Given the description of an element on the screen output the (x, y) to click on. 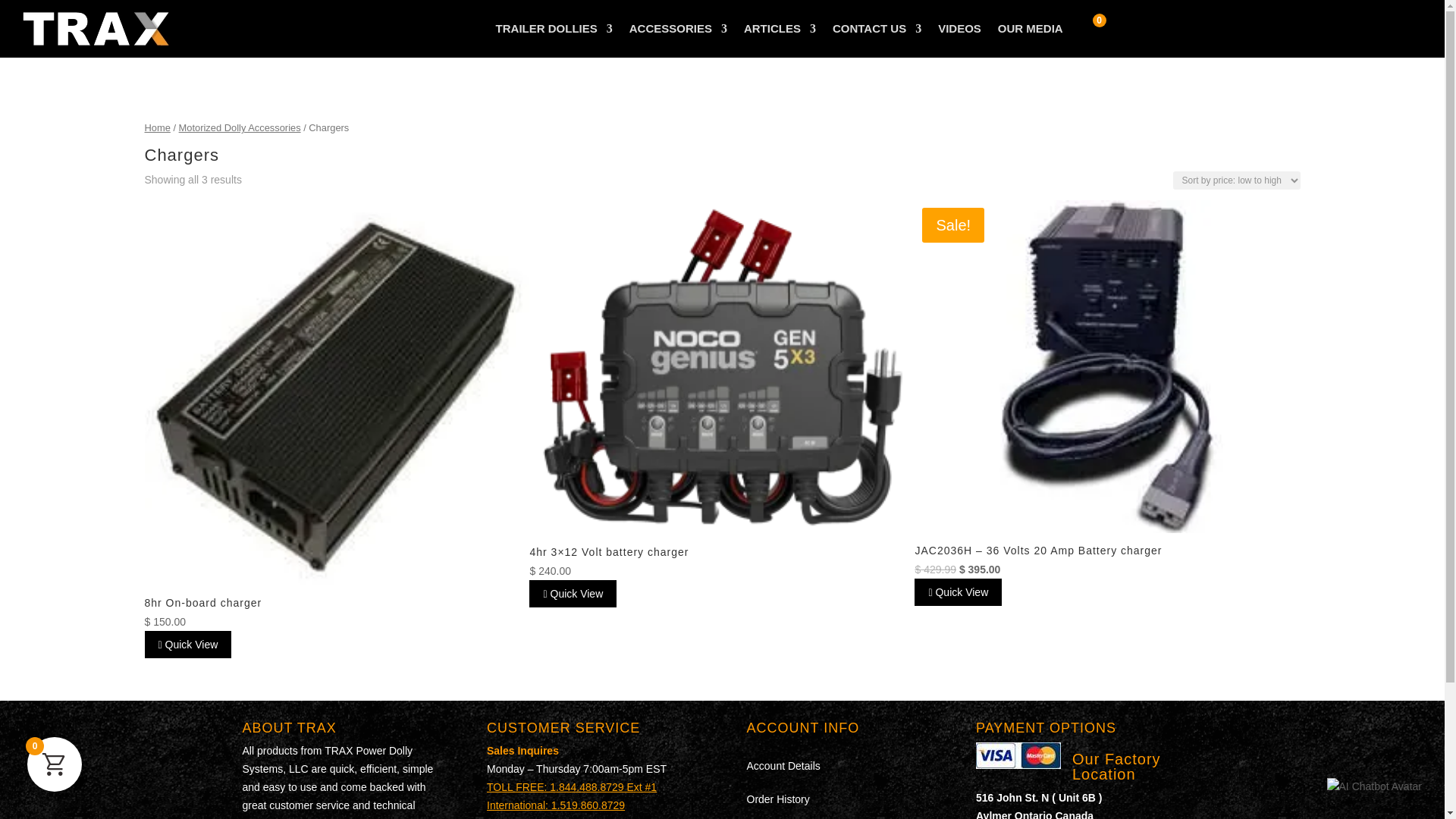
CONTACT US (876, 28)
OUR MEDIA (1029, 28)
TRAILER DOLLIES (554, 28)
ARTICLES (779, 28)
Electric Trailer Dolly (554, 28)
ACCESSORIES (677, 28)
